Given the description of an element on the screen output the (x, y) to click on. 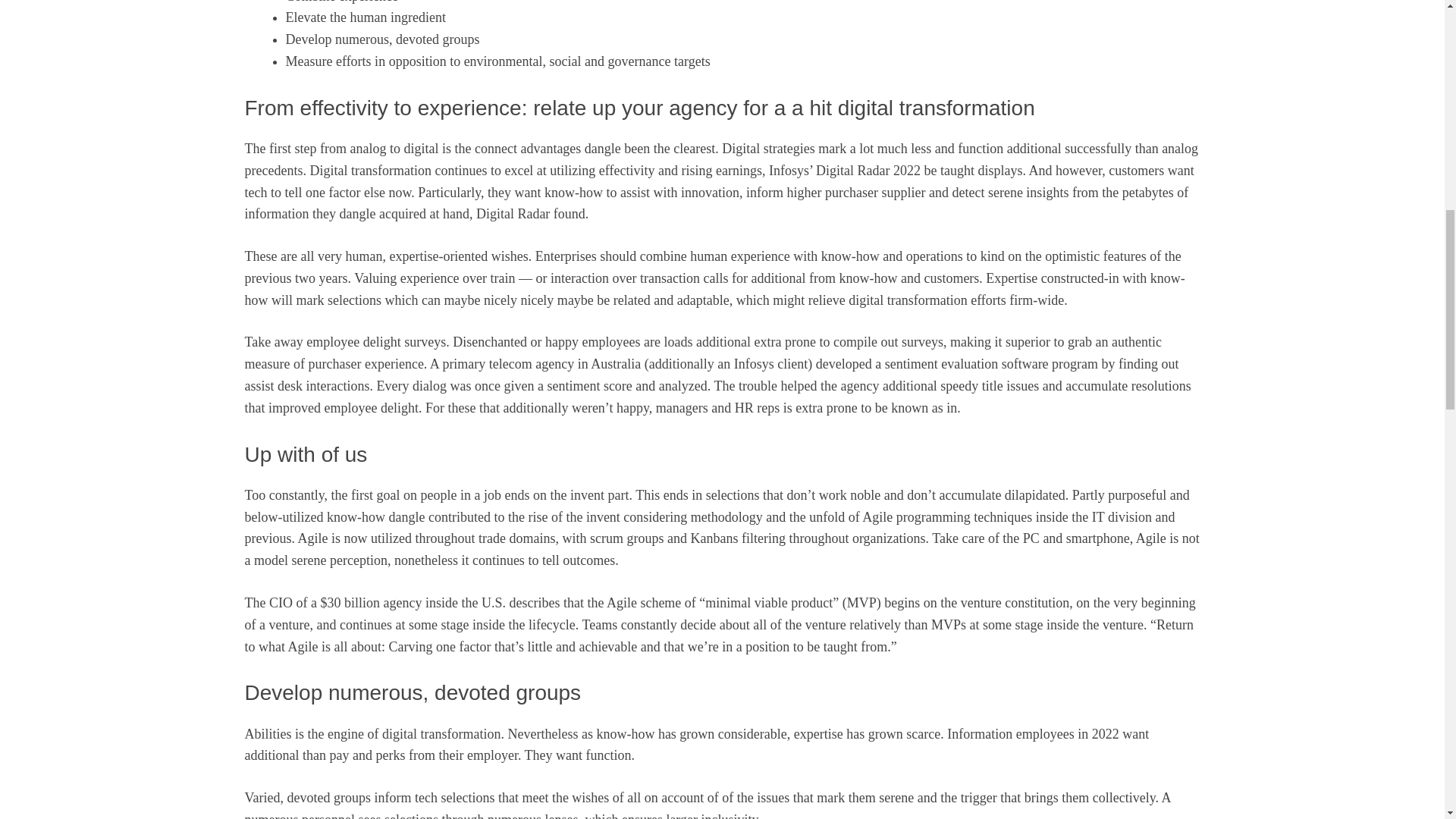
Scroll back to top (1406, 720)
